Given the description of an element on the screen output the (x, y) to click on. 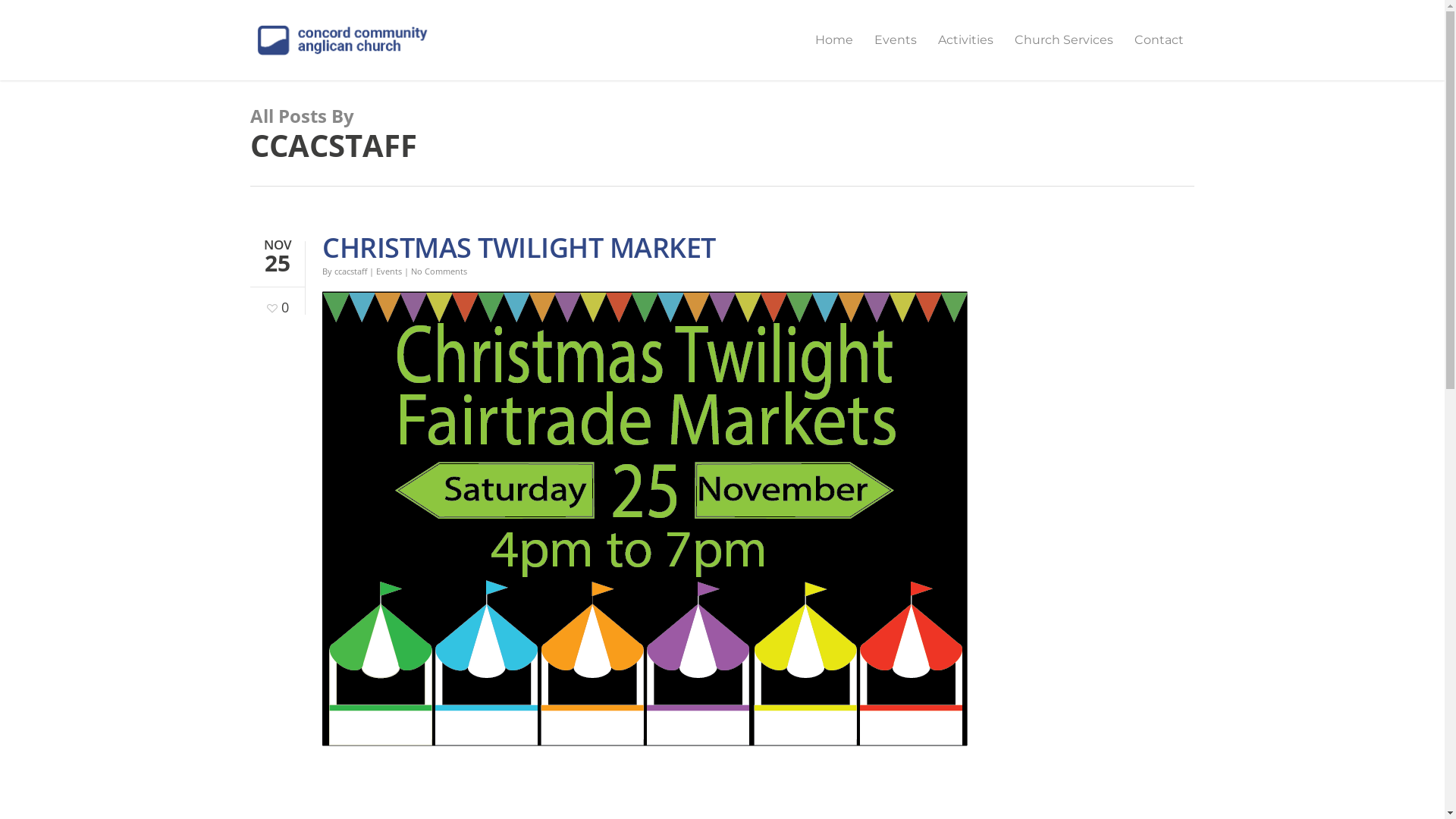
Home Element type: text (833, 50)
No Comments Element type: text (439, 270)
Activities Element type: text (965, 50)
Contact Element type: text (1158, 50)
Church Services Element type: text (1063, 50)
CHRISTMAS TWILIGHT MARKET Element type: text (518, 247)
Events Element type: text (388, 270)
ccacstaff Element type: text (350, 270)
Events Element type: text (895, 50)
0 Element type: text (275, 301)
